Given the description of an element on the screen output the (x, y) to click on. 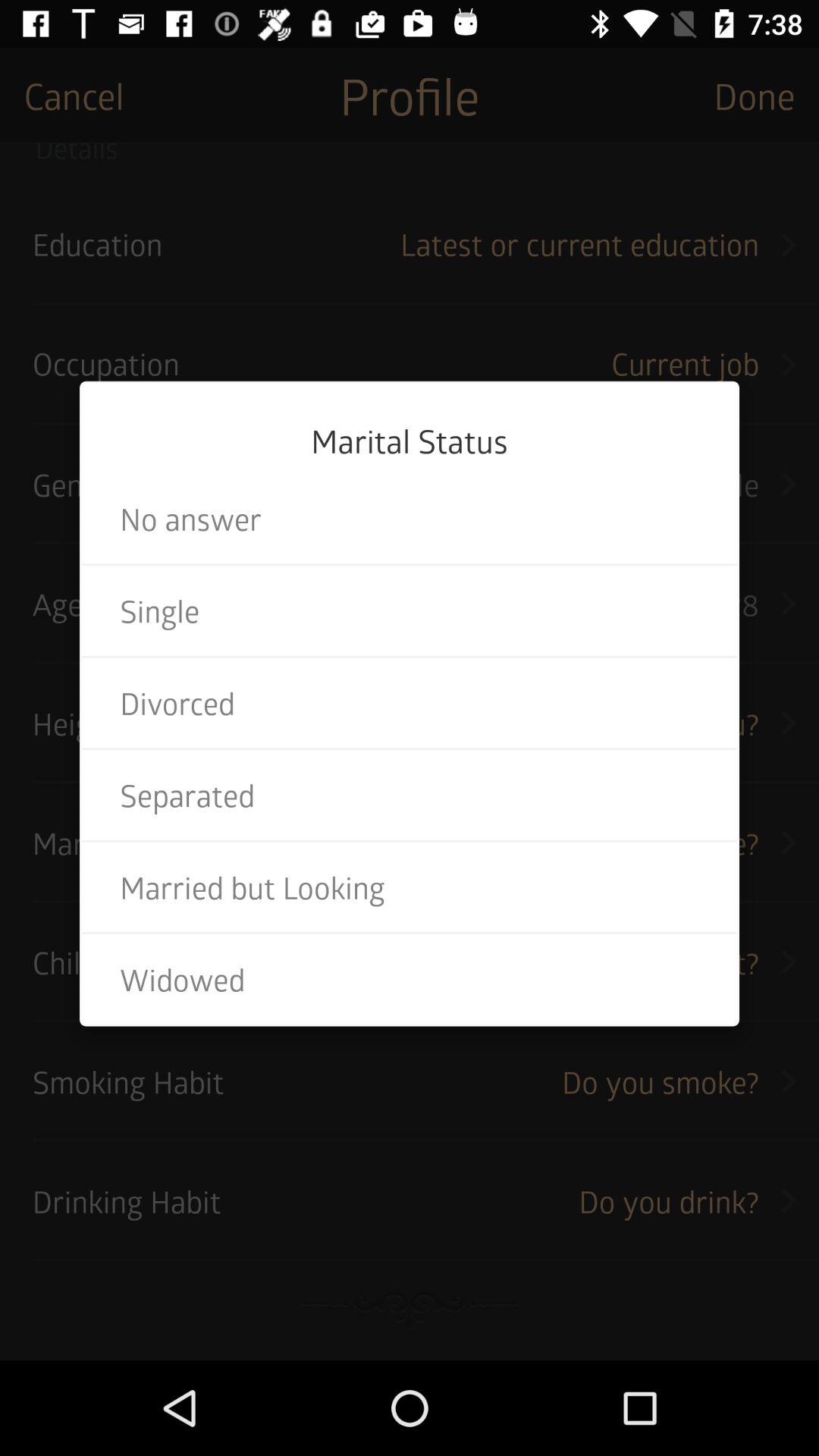
select the widowed item (409, 979)
